Given the description of an element on the screen output the (x, y) to click on. 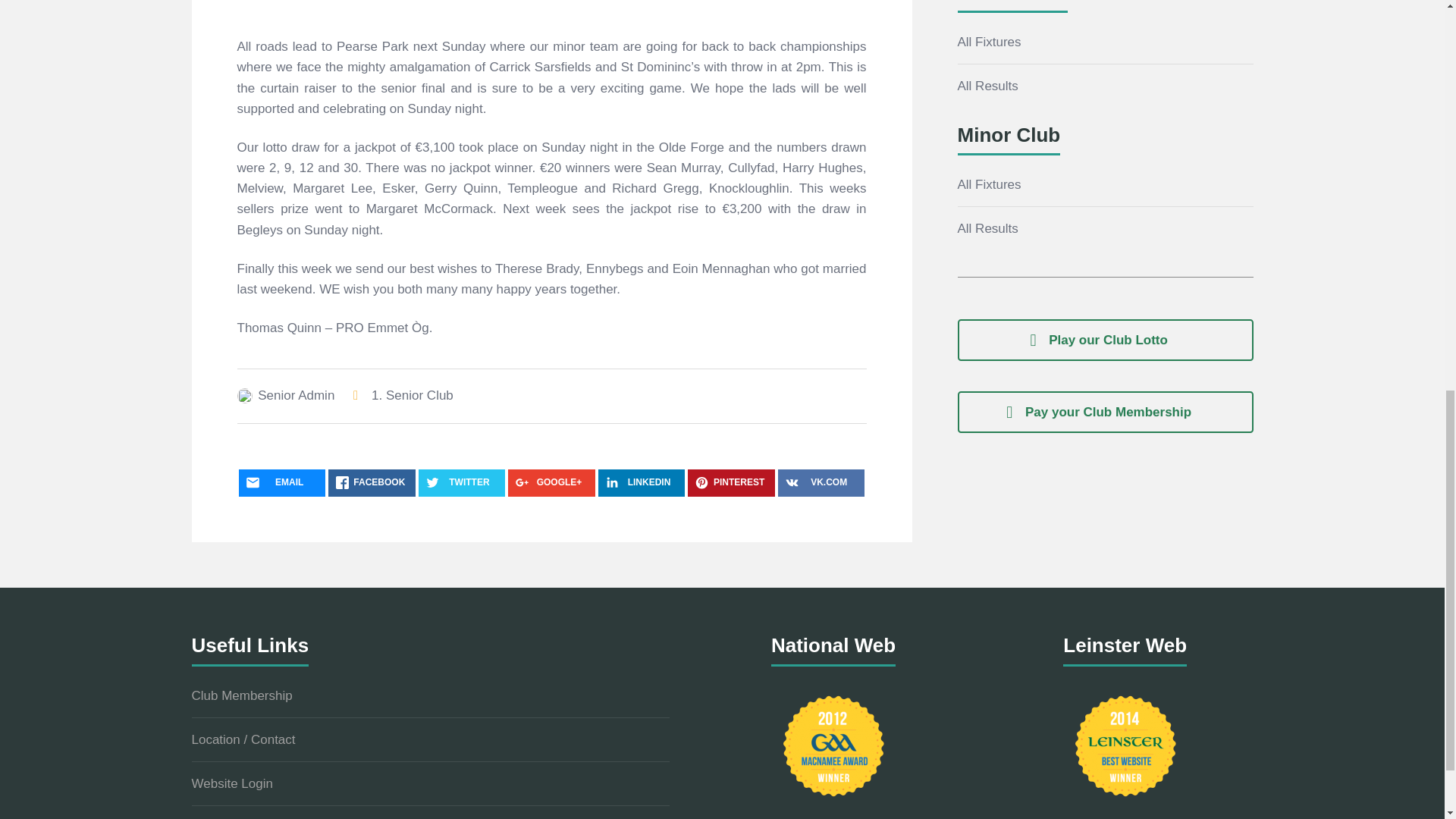
National Web (832, 746)
Leinster Web (1125, 746)
